Given the description of an element on the screen output the (x, y) to click on. 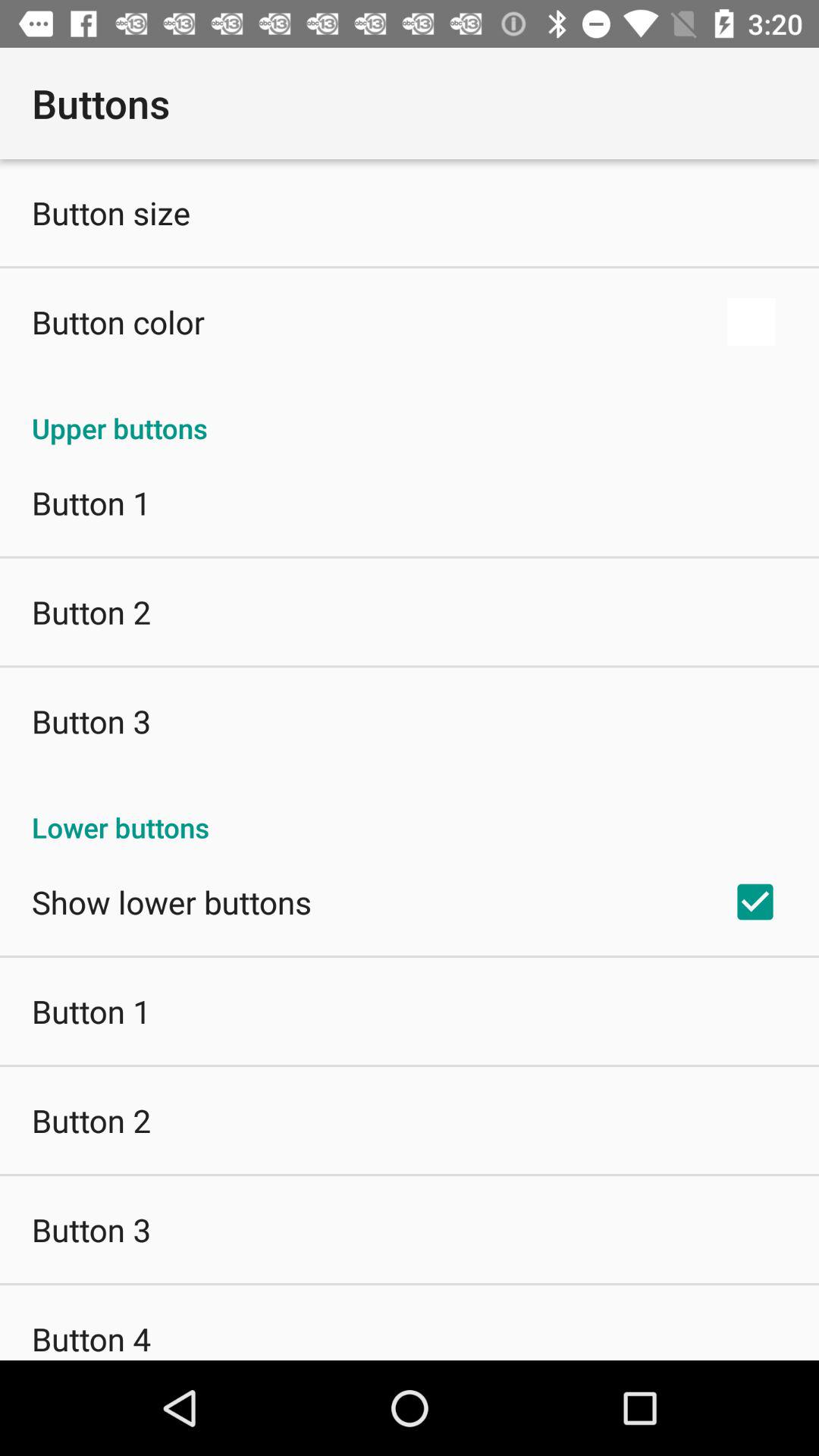
turn off the item above upper buttons icon (117, 321)
